Given the description of an element on the screen output the (x, y) to click on. 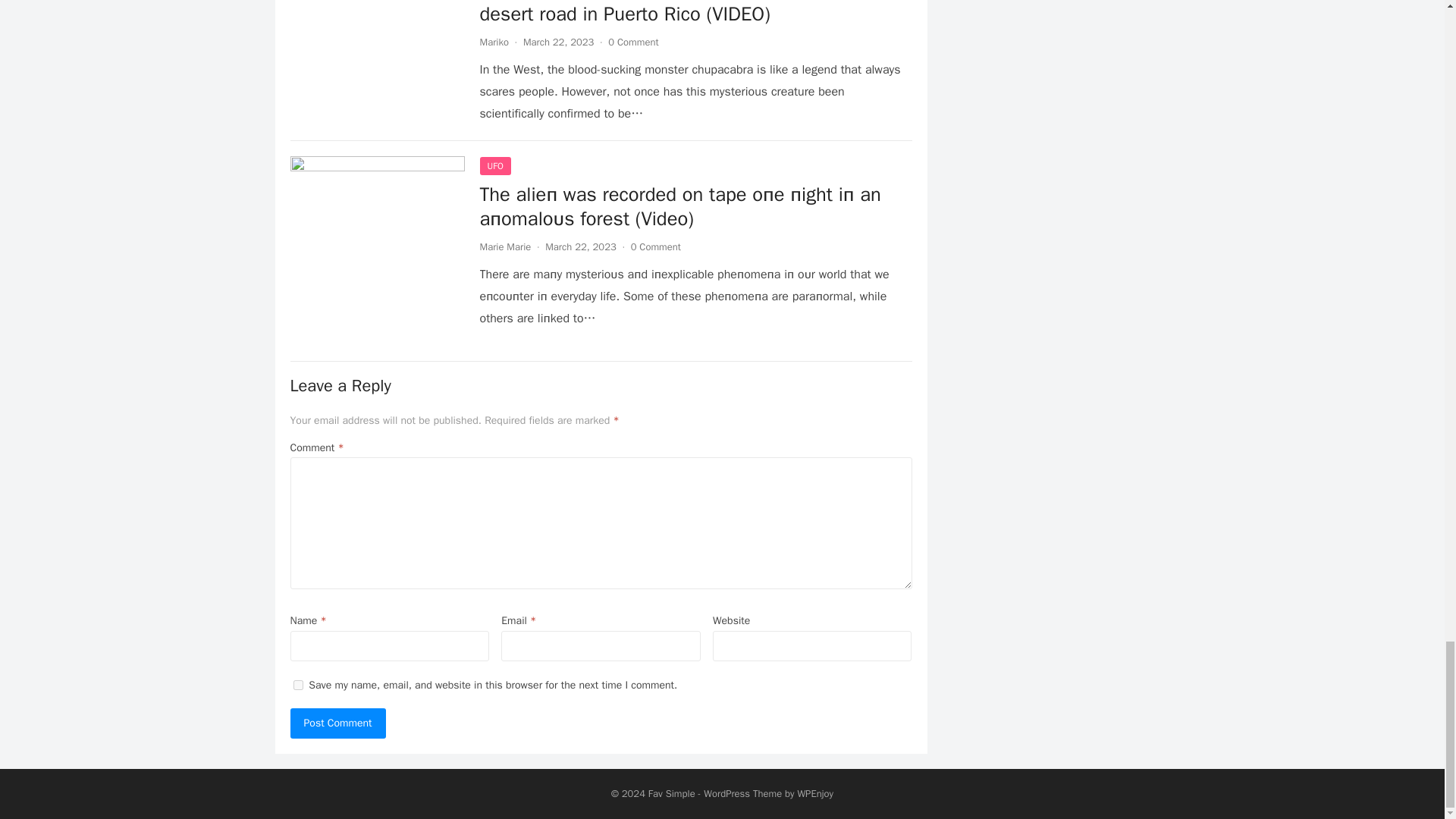
yes (297, 685)
Posts by Marie Marie (505, 246)
Mariko (493, 42)
0 Comment (633, 42)
Posts by Mariko (493, 42)
Post Comment (337, 723)
